Given the description of an element on the screen output the (x, y) to click on. 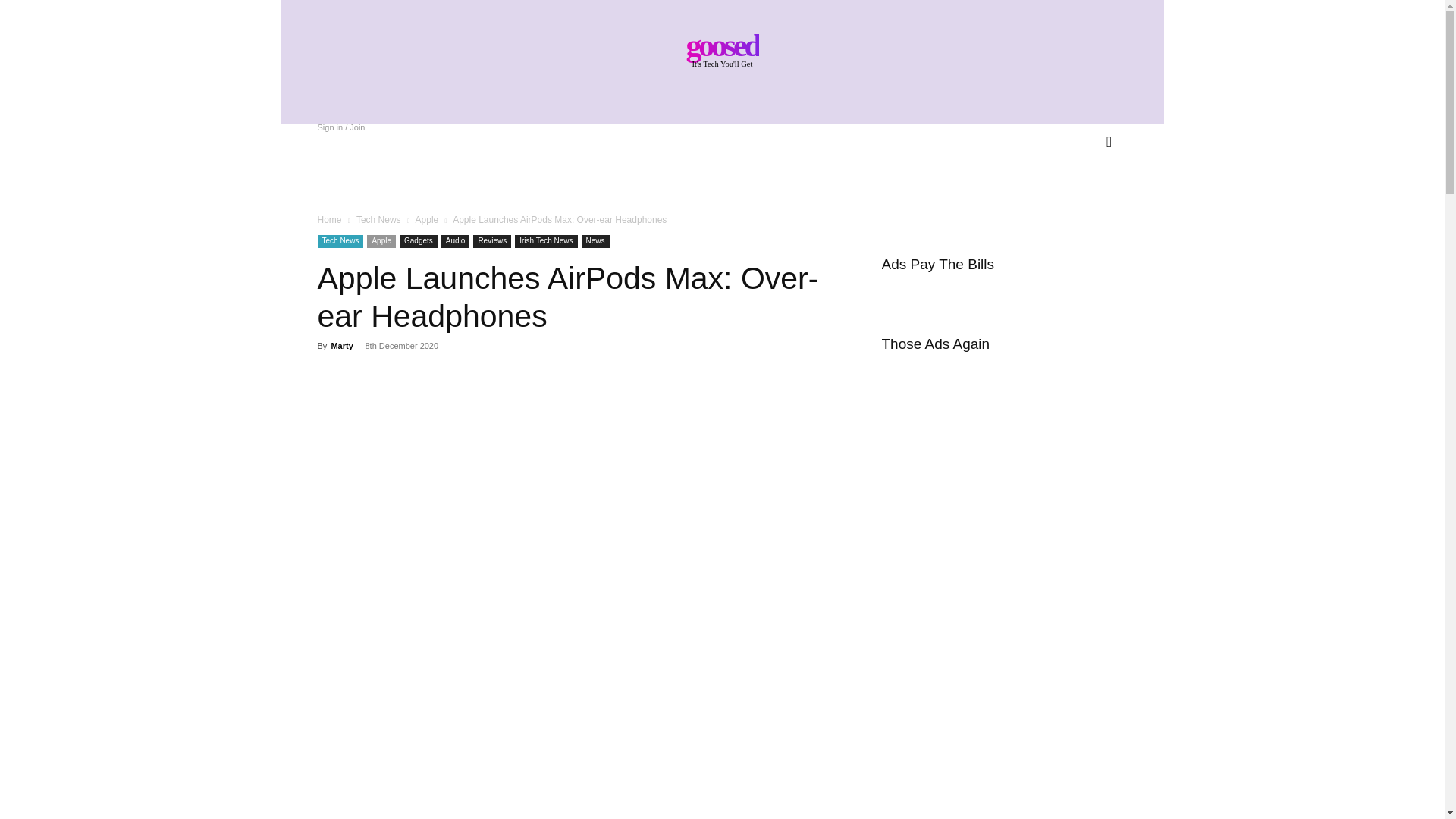
Goosed.ie (721, 47)
